Given the description of an element on the screen output the (x, y) to click on. 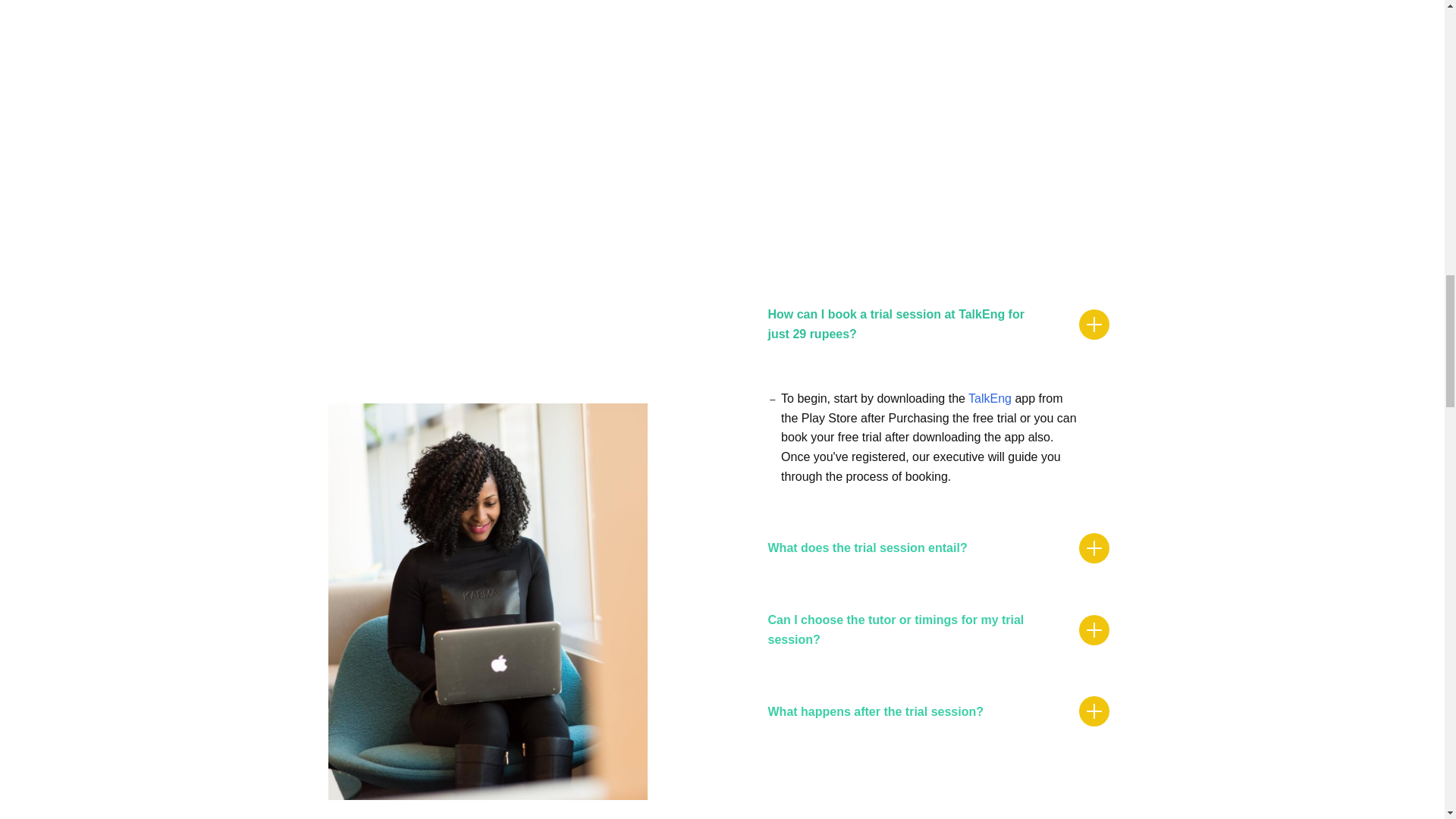
What does the trial session entail?  (937, 548)
TalkEng (989, 398)
What happens after the trial session?  (937, 711)
Can I choose the tutor or timings for my trial session? (937, 629)
